Given the description of an element on the screen output the (x, y) to click on. 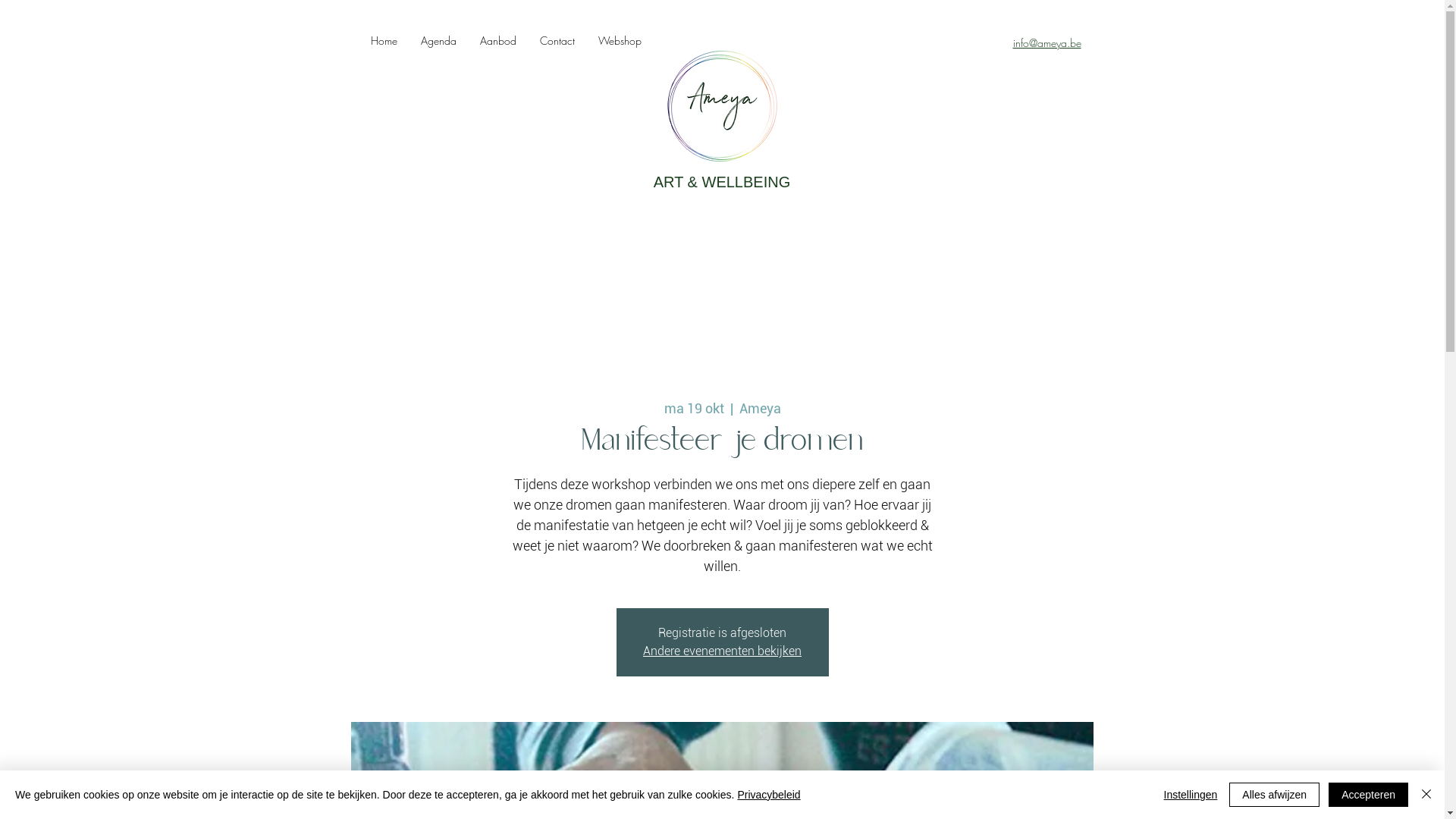
Accepteren Element type: text (1368, 794)
Home Element type: text (382, 40)
Webshop Element type: text (618, 40)
Agenda Element type: text (437, 40)
Privacybeleid Element type: text (768, 794)
info@ameya.be Element type: text (1047, 44)
Alles afwijzen Element type: text (1274, 794)
Contact Element type: text (556, 40)
Andere evenementen bekijken Element type: text (722, 650)
